Given the description of an element on the screen output the (x, y) to click on. 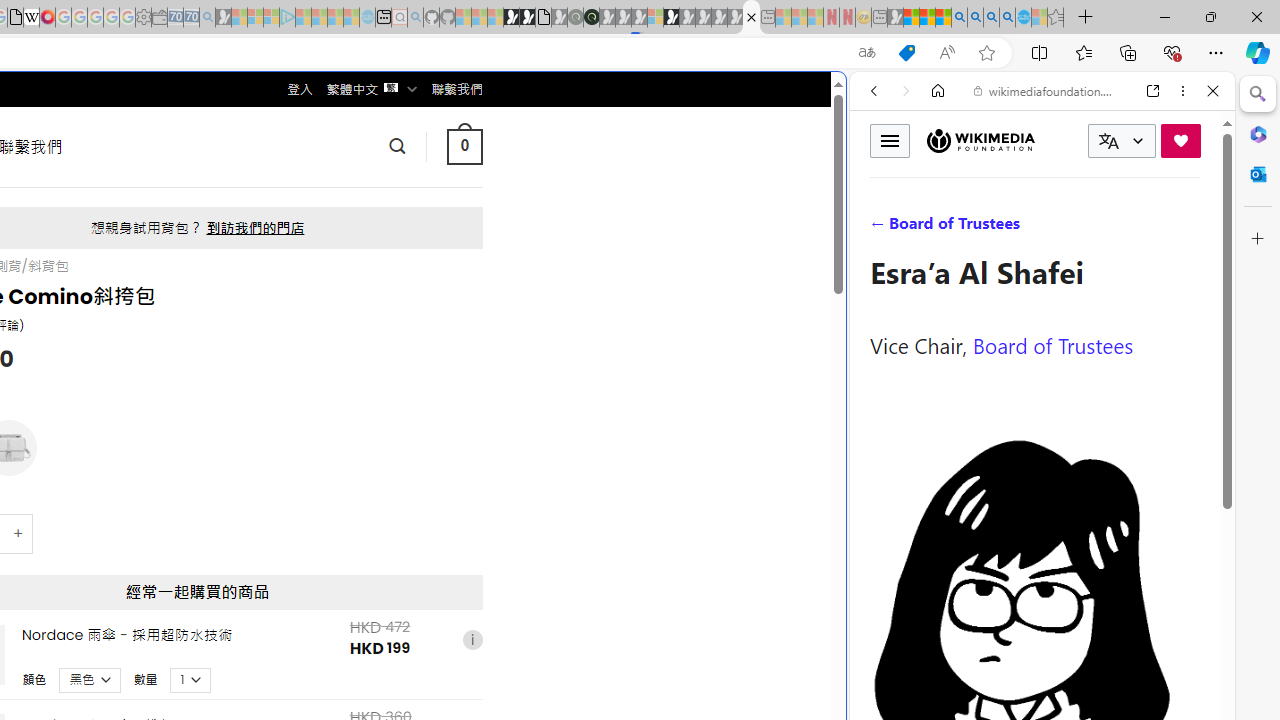
Frequently visited (418, 265)
New tab - Sleeping (879, 17)
Open link in new tab (1153, 91)
Class: i icon icon-translate language-switcher__icon (1108, 141)
Donate now (1180, 140)
Bing AI - Search (959, 17)
